Given the description of an element on the screen output the (x, y) to click on. 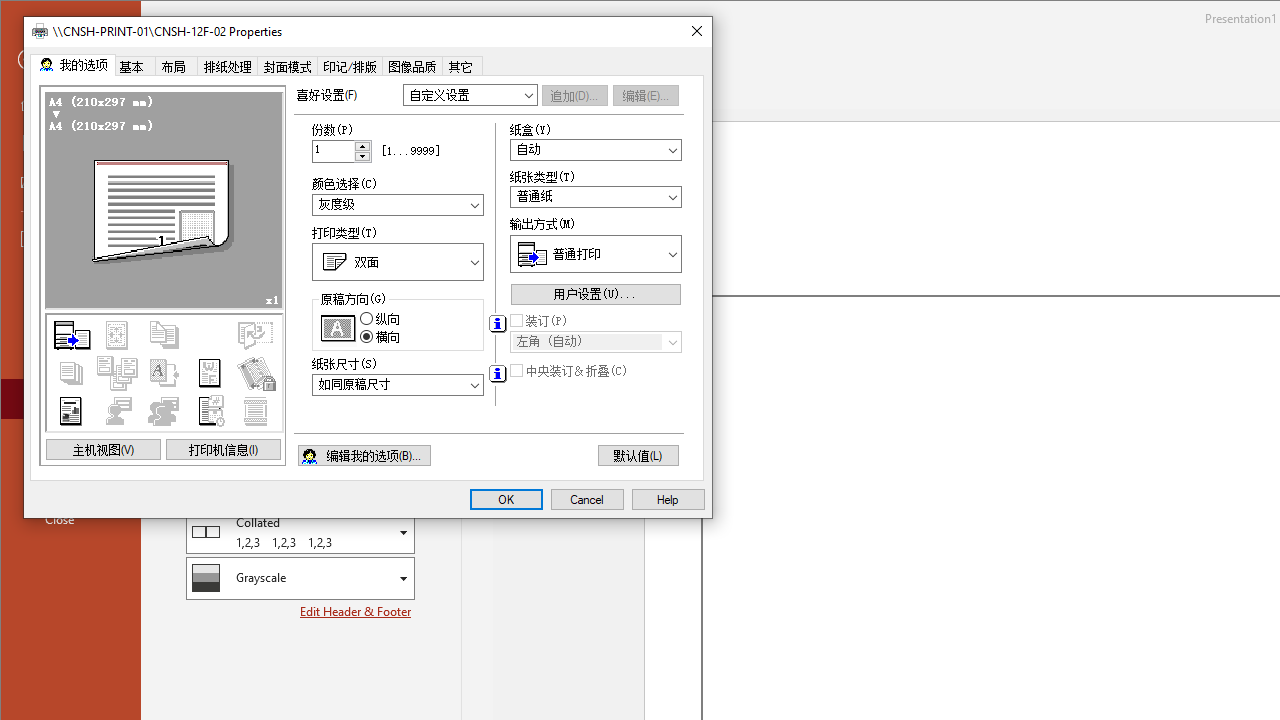
More (363, 145)
AutomationID: 1047 (595, 341)
Cancel (587, 499)
Edit Header & Footer (356, 611)
OK (506, 499)
